Given the description of an element on the screen output the (x, y) to click on. 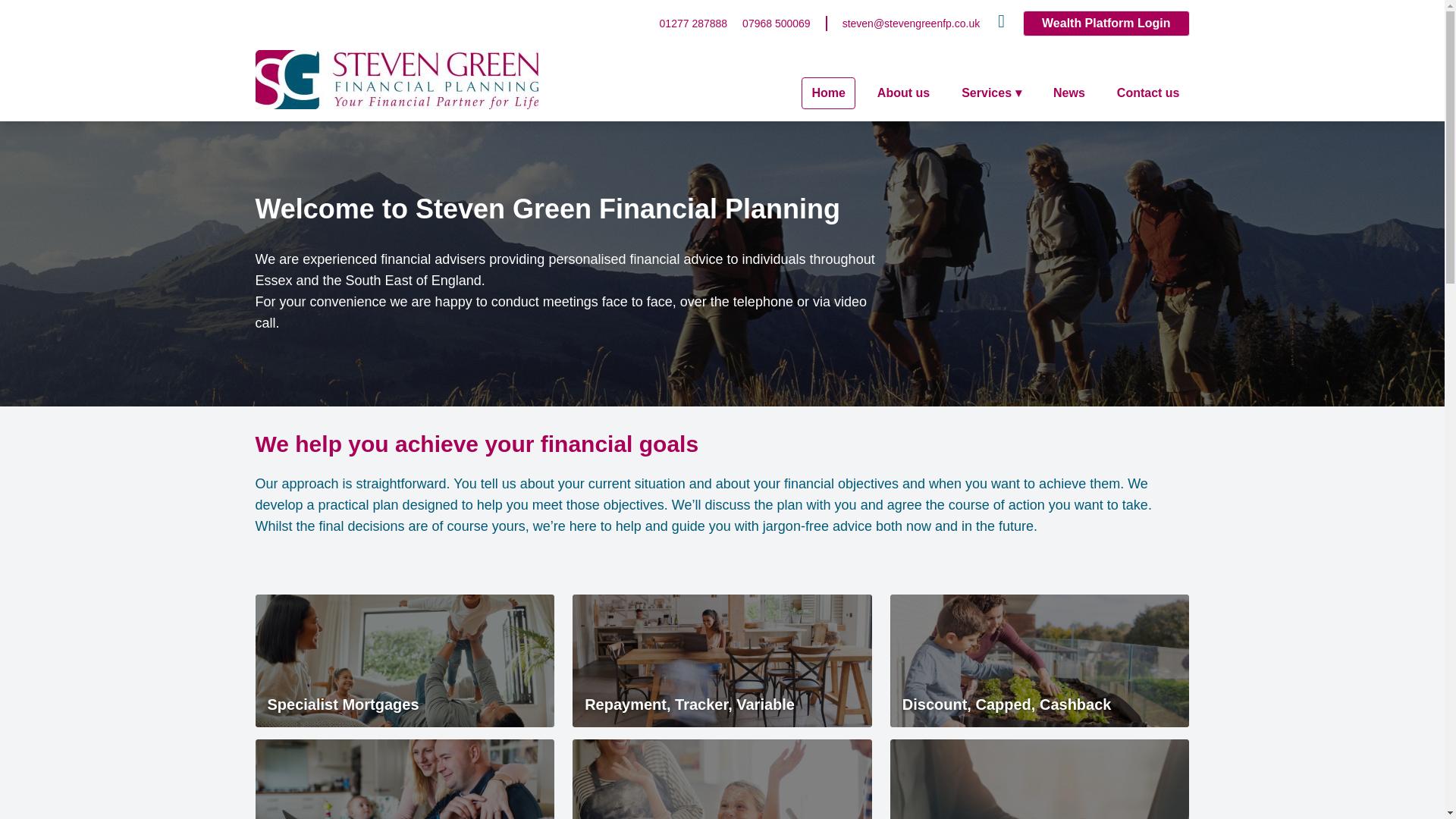
Specialist Mortgages (404, 660)
Repayment, Tracker, Variable (722, 660)
Wealth Platform Login (1106, 23)
Buy To Let, First-Time Buyers (404, 779)
Discount, Capped, Cashback (1039, 660)
News (1068, 92)
01277 287888 (693, 23)
About us (903, 92)
07968 500069 (776, 23)
Services (991, 92)
Contact us (1148, 92)
Home (827, 92)
Auto Enrolment (1039, 779)
Fixed Rate, Interest-Only, Offset (722, 779)
